Given the description of an element on the screen output the (x, y) to click on. 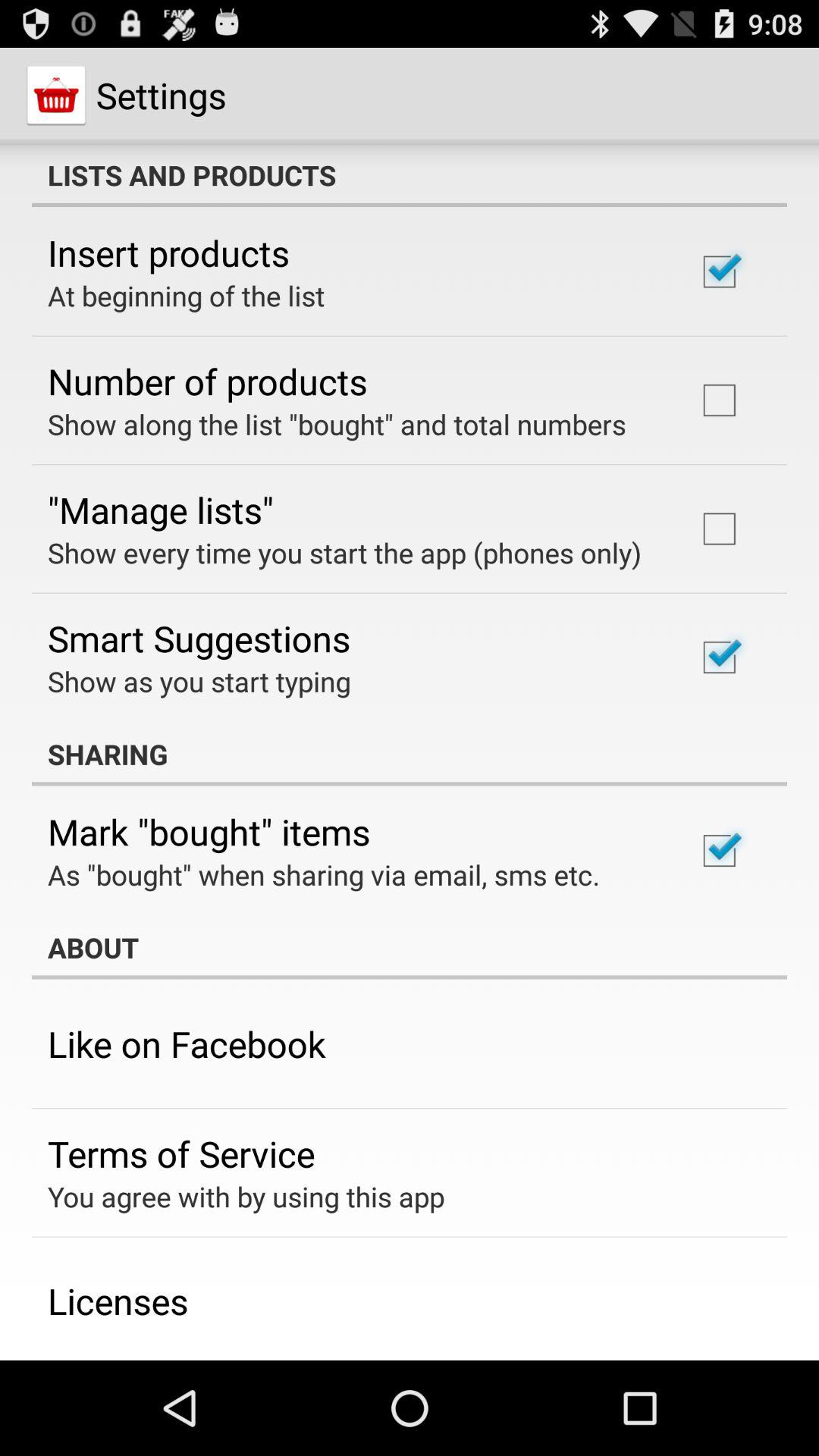
swipe to the like on facebook (186, 1043)
